Given the description of an element on the screen output the (x, y) to click on. 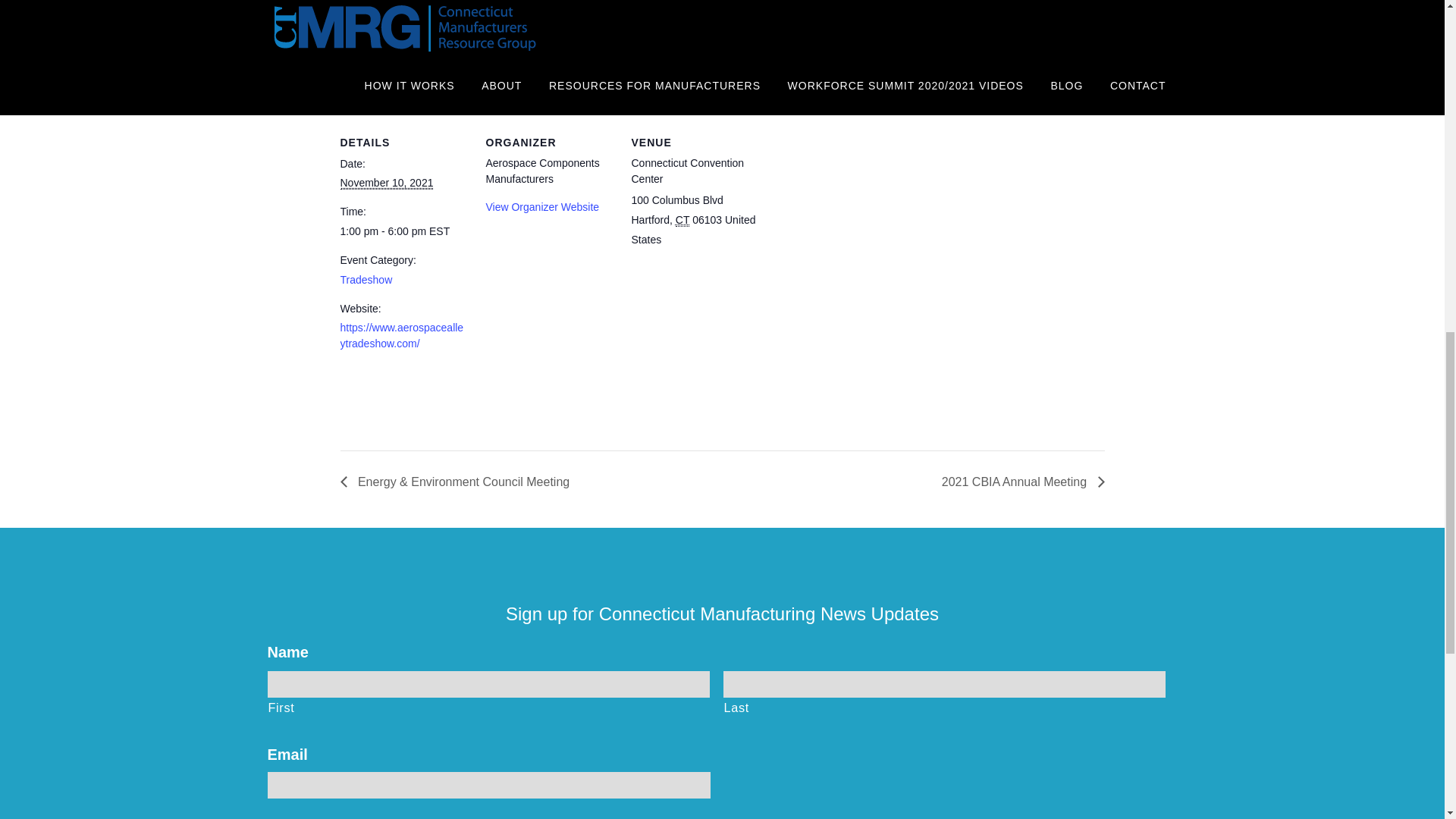
Connecticut (681, 219)
ADD TO CALENDAR (416, 55)
Tradeshow (365, 279)
2021 CBIA Annual Meeting (1019, 481)
2021-11-10 (403, 231)
View Organizer Website (541, 206)
2021-11-10 (385, 182)
